Given the description of an element on the screen output the (x, y) to click on. 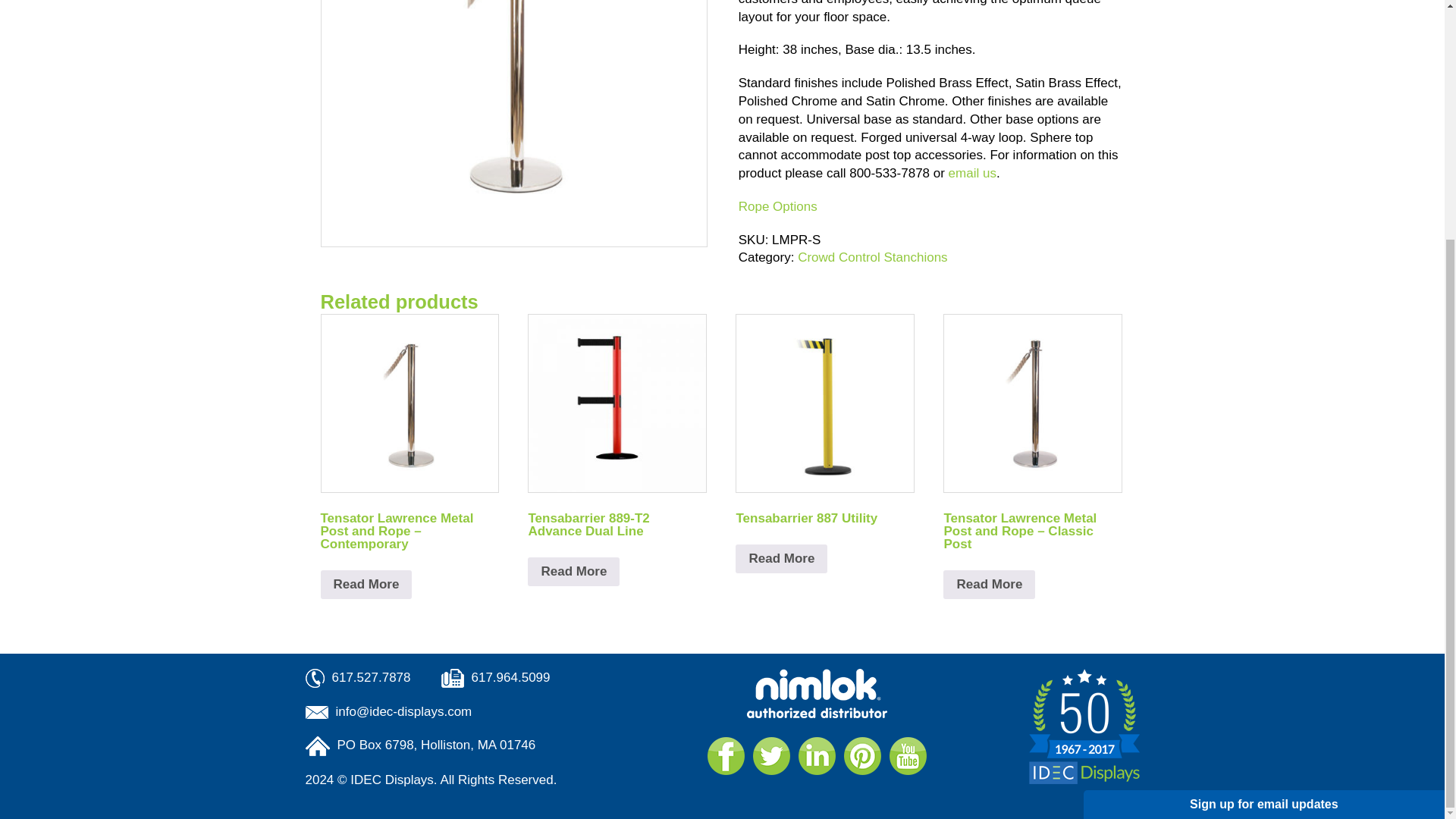
email us (972, 173)
Crowd Control Stanchions (872, 257)
lawrence-metal-post-and-rope-sphere (513, 123)
Rope Options (777, 206)
